Given the description of an element on the screen output the (x, y) to click on. 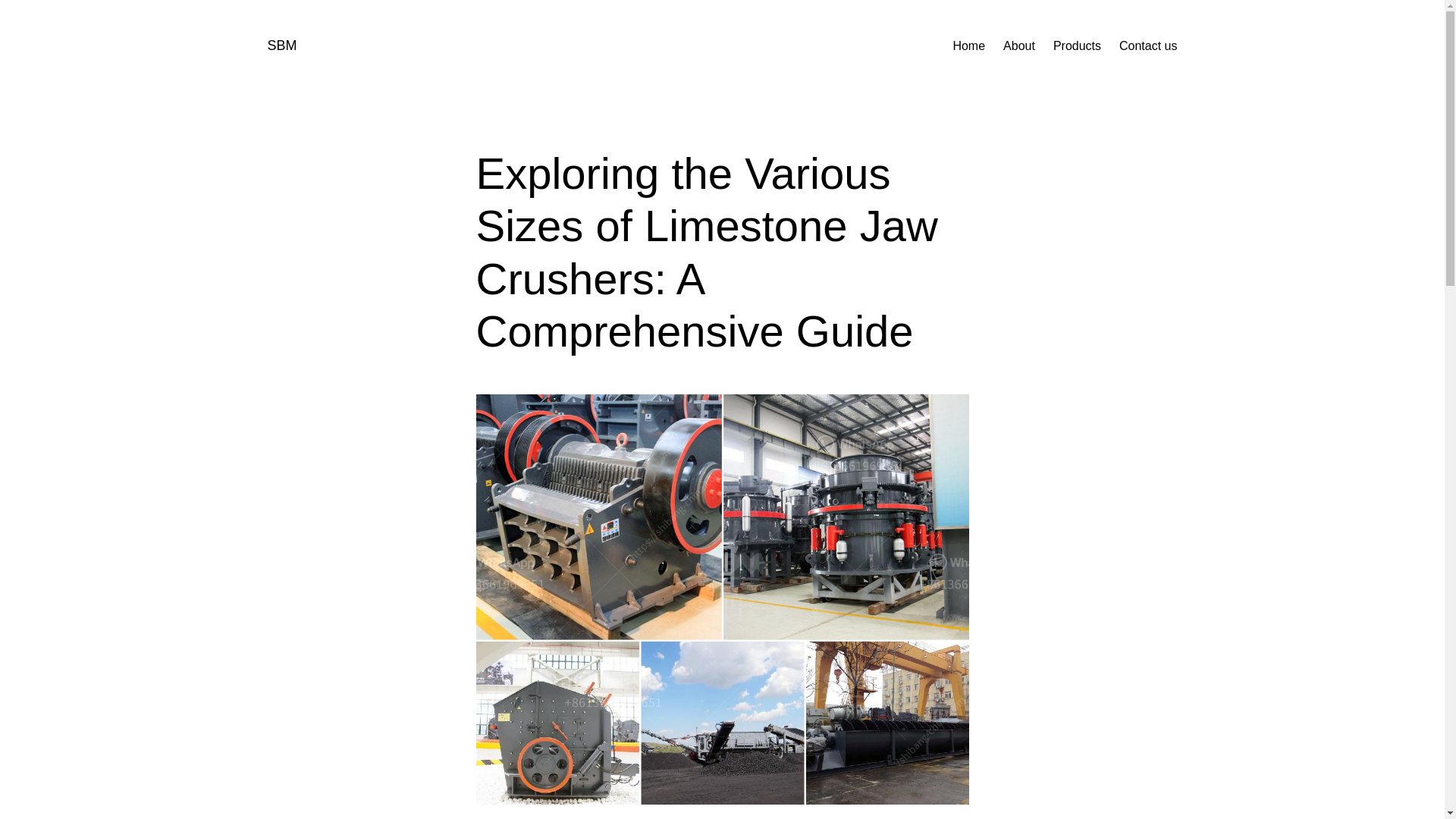
Contact us (1147, 46)
SBM (281, 45)
Products (1076, 46)
About (1019, 46)
Home (968, 46)
